Given the description of an element on the screen output the (x, y) to click on. 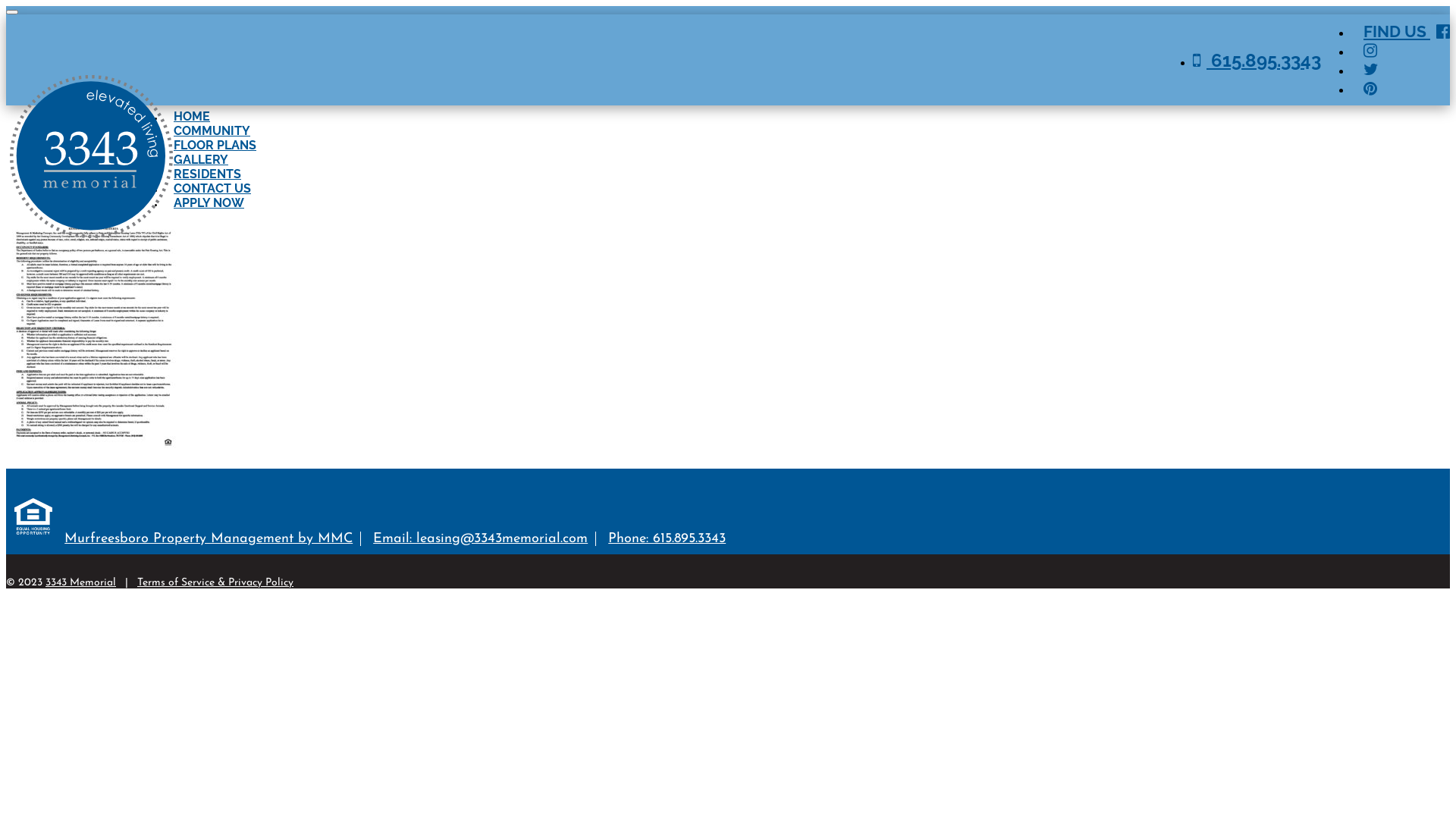
Phone: 615.895.3343 Element type: text (666, 538)
APPLY NOW Element type: text (208, 202)
GALLERY Element type: text (200, 159)
3343 Memorial Element type: text (80, 582)
615.895.3343 Element type: text (1256, 59)
COMMUNITY Element type: text (211, 130)
FLOOR PLANS Element type: text (214, 145)
Email: leasing@3343memorial.com Element type: text (484, 538)
Murfreesboro Property Management by MMC Element type: text (212, 538)
Terms of Service & Privacy Policy Element type: text (215, 582)
CONTACT US Element type: text (211, 188)
FIND US Element type: text (1406, 31)
HOME Element type: text (191, 116)
RESIDENTS Element type: text (207, 173)
